Given the description of an element on the screen output the (x, y) to click on. 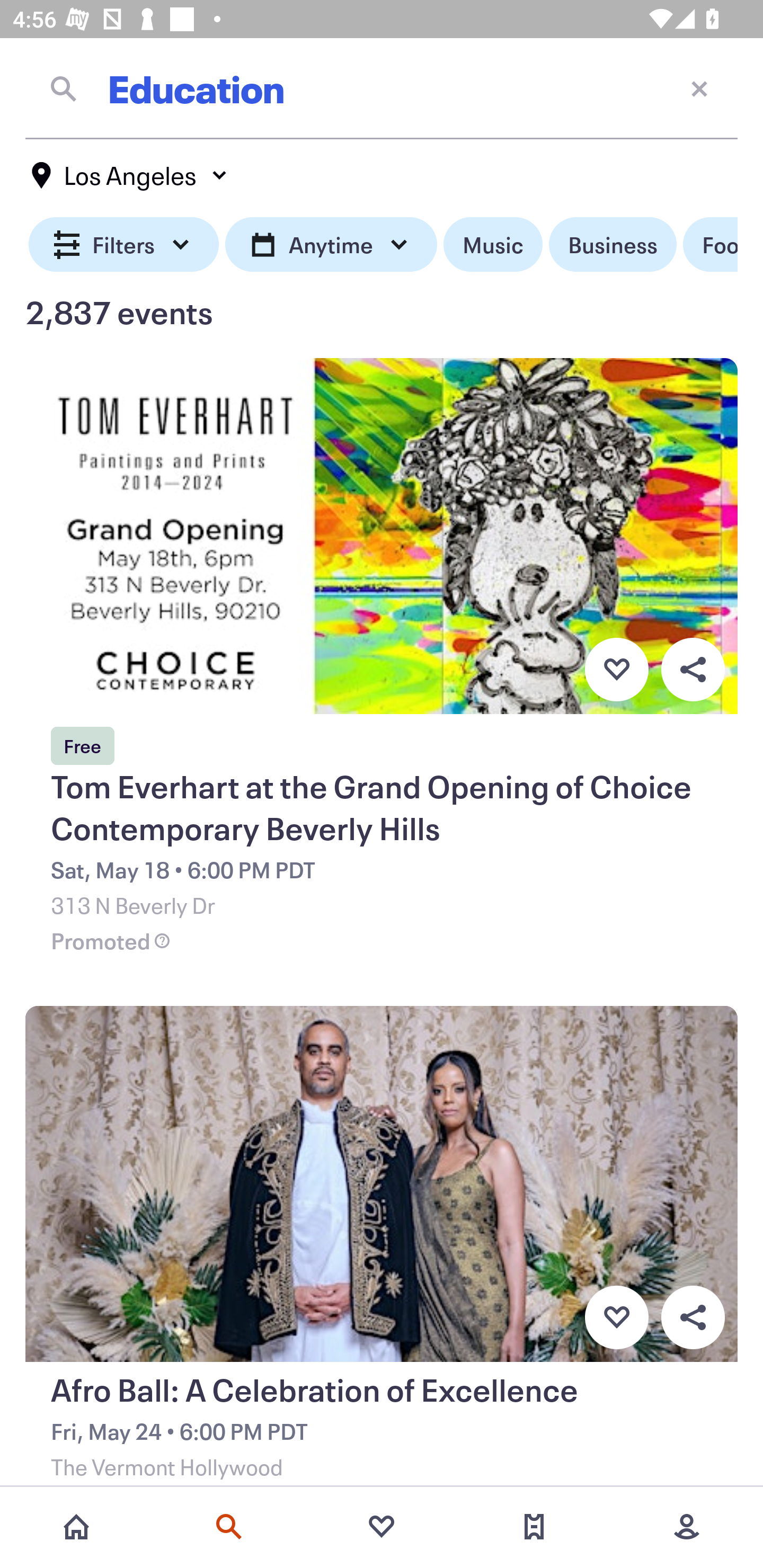
Education Close current screen (381, 88)
Close current screen (699, 88)
Los Angeles (130, 175)
Filters (123, 244)
Anytime (331, 244)
Music (492, 244)
Business (612, 244)
Favorite button (616, 669)
Overflow menu button (692, 669)
Favorite button (616, 1317)
Overflow menu button (692, 1317)
Home (76, 1526)
Search events (228, 1526)
Favorites (381, 1526)
Tickets (533, 1526)
More (686, 1526)
